Given the description of an element on the screen output the (x, y) to click on. 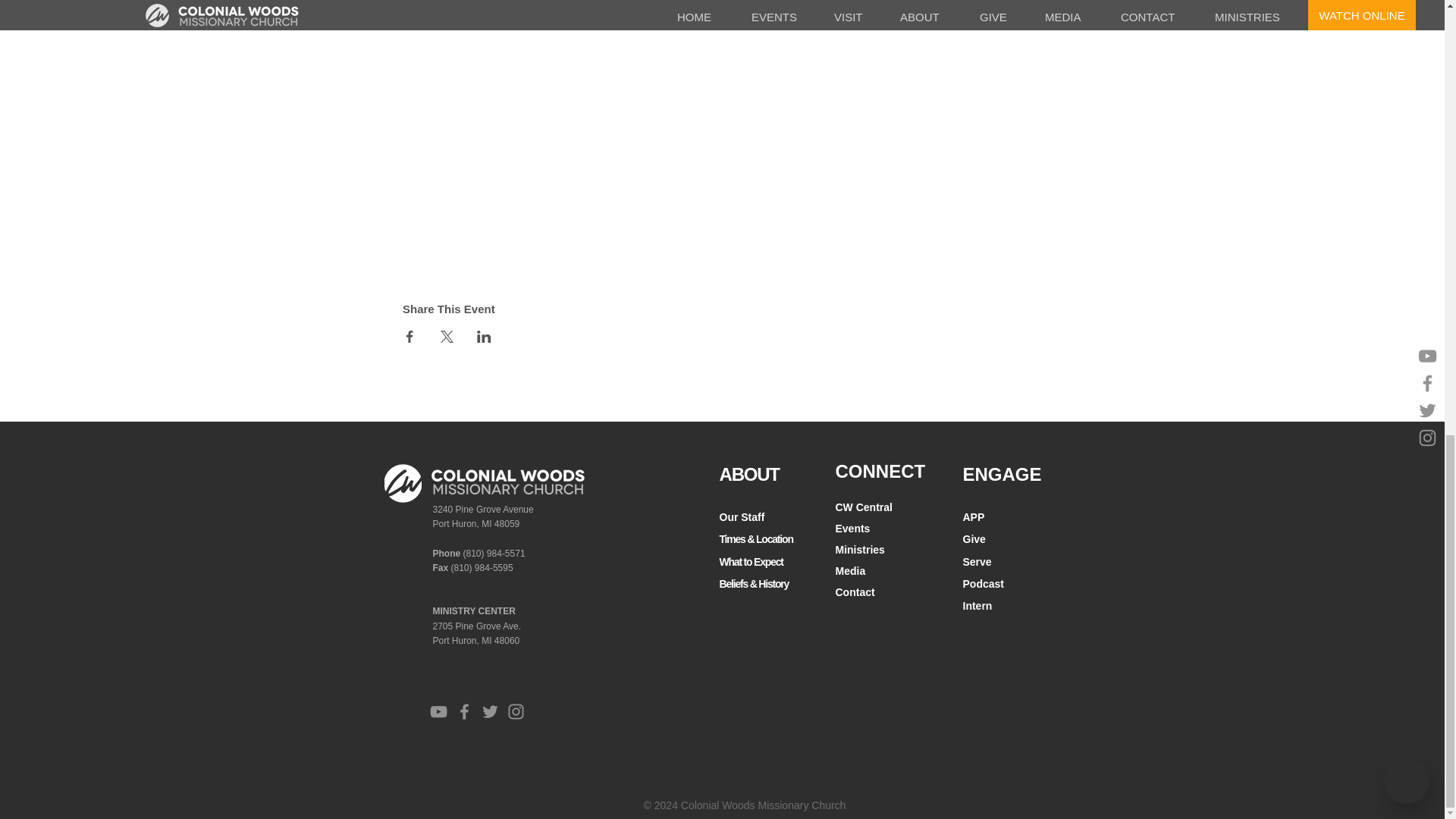
Our Staff (741, 514)
Events (852, 525)
What to Expect (751, 558)
CW Central (863, 504)
